Given the description of an element on the screen output the (x, y) to click on. 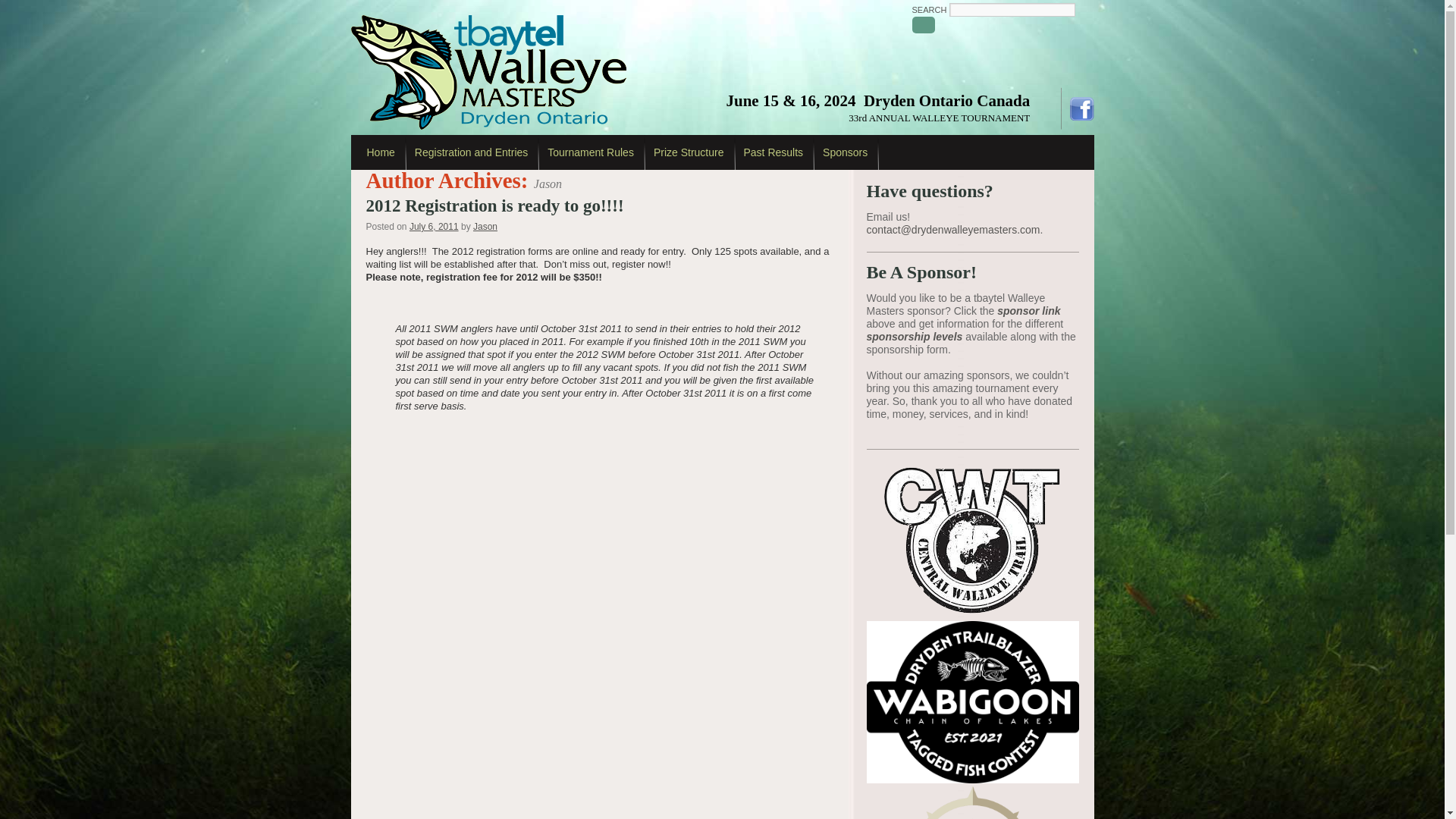
Past Results (773, 152)
Find Dryden Walleye Masters on Facebook (1080, 108)
Home (380, 152)
sponsorship levels (914, 336)
Jason (548, 183)
Sponsors (844, 152)
View all posts by Jason (485, 226)
Permalink to 2012 Registration is ready to go!!!! (494, 205)
July 6, 2011 (433, 226)
Jason (485, 226)
